Given the description of an element on the screen output the (x, y) to click on. 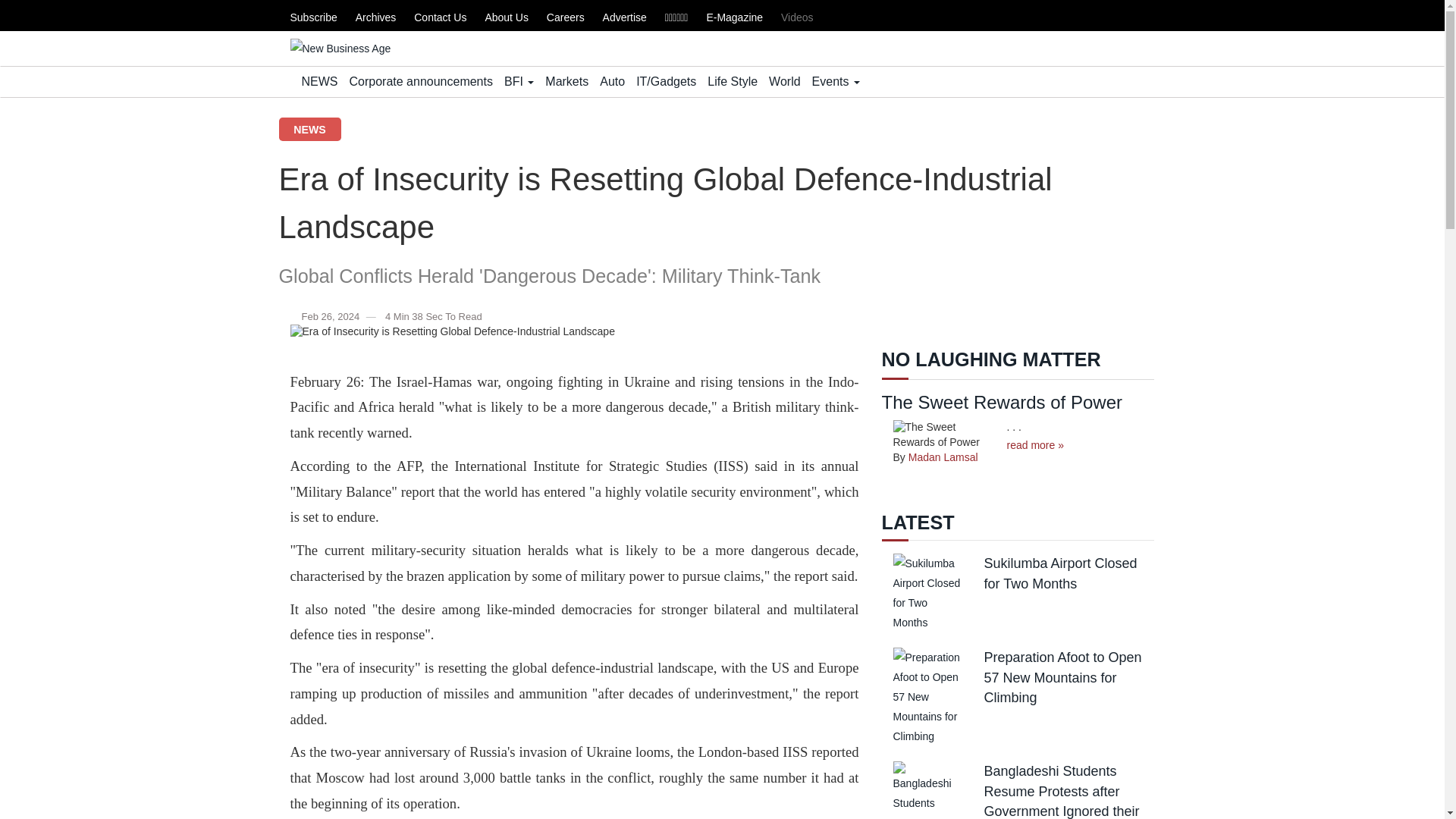
Archives (375, 17)
About Us (506, 17)
Careers (566, 17)
Videos (796, 17)
E-Magazine (734, 17)
Contact Us (439, 17)
Advertise (624, 17)
Subscribe (312, 17)
